Given the description of an element on the screen output the (x, y) to click on. 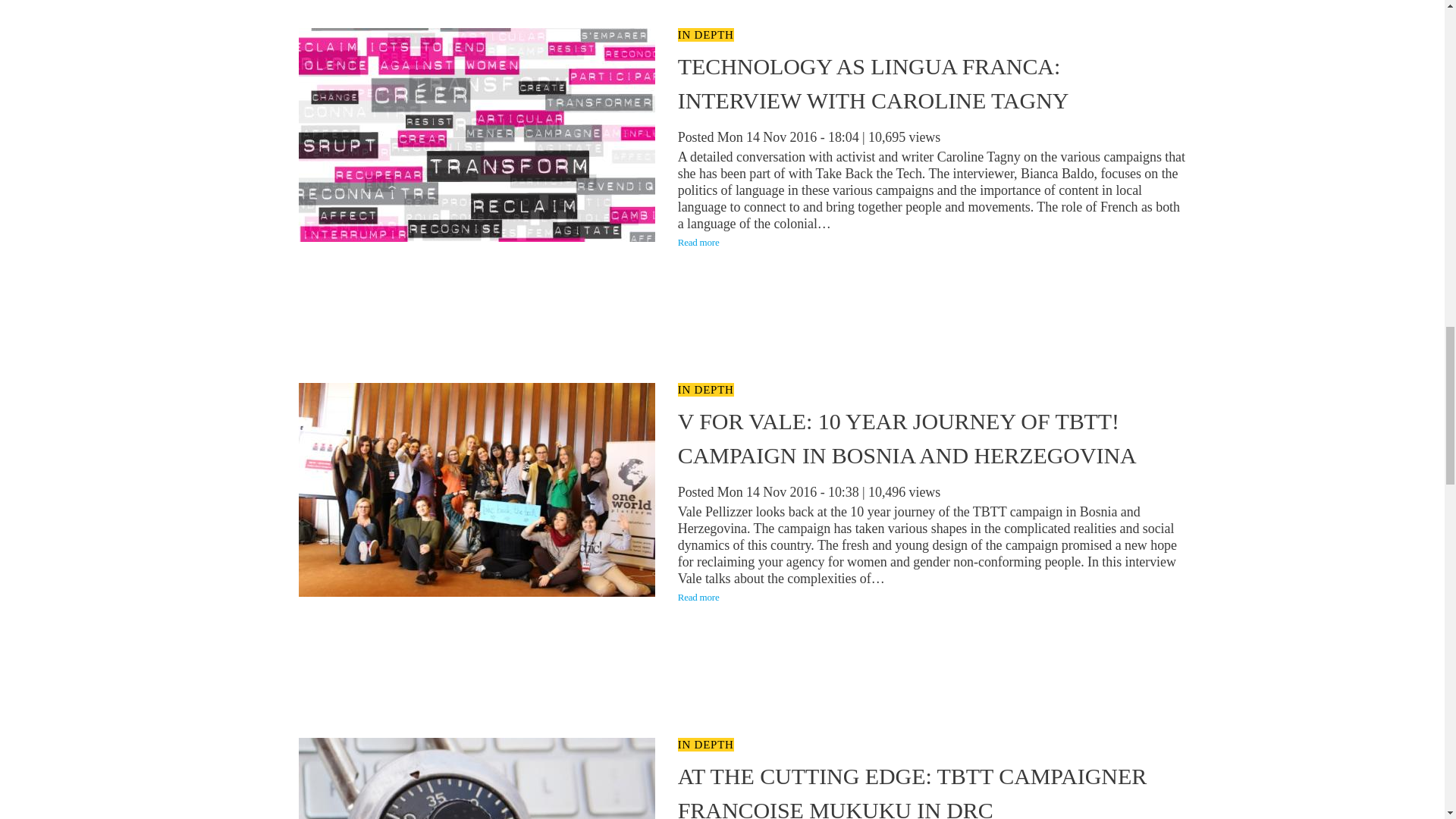
TECHNOLOGY AS LINGUA FRANCA: INTERVIEW WITH CAROLINE TAGNY (873, 83)
Read more (698, 596)
AT THE CUTTING EDGE: TBTT CAMPAIGNER FRANCOISE MUKUKU IN DRC (912, 791)
Read more (698, 242)
